Given the description of an element on the screen output the (x, y) to click on. 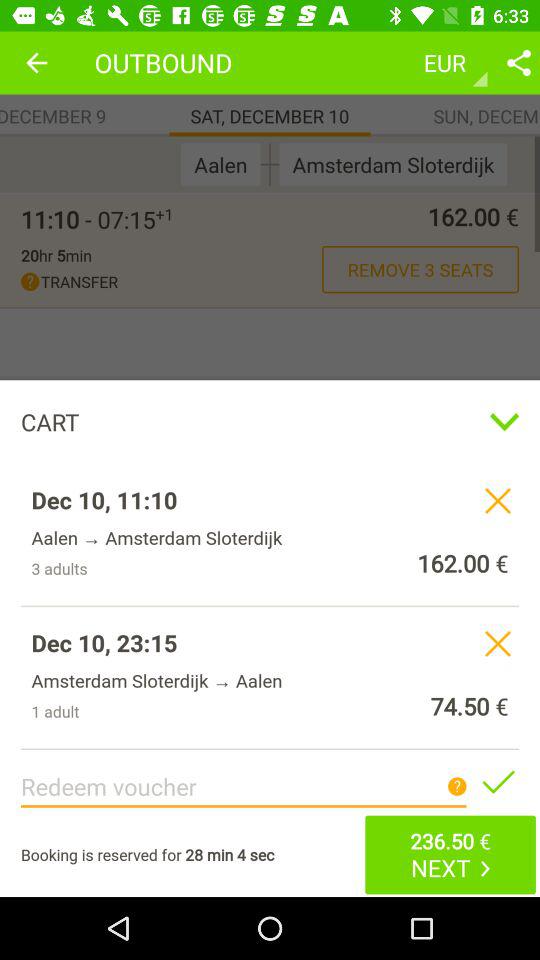
save the article (498, 781)
